Given the description of an element on the screen output the (x, y) to click on. 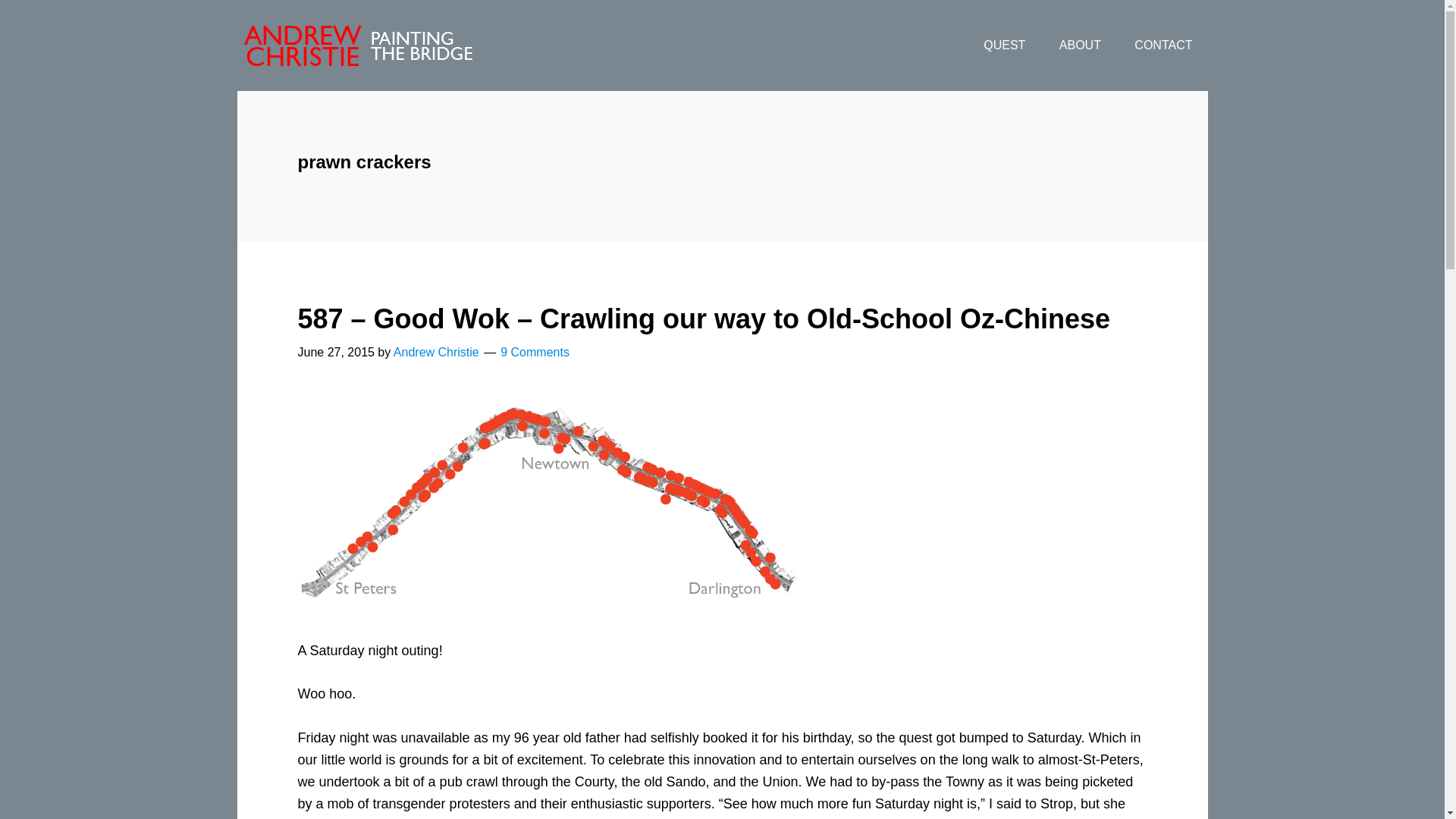
Andrew Christie (436, 351)
Painting the Bridge (357, 45)
9 Comments (534, 351)
CONTACT (1163, 45)
